Given the description of an element on the screen output the (x, y) to click on. 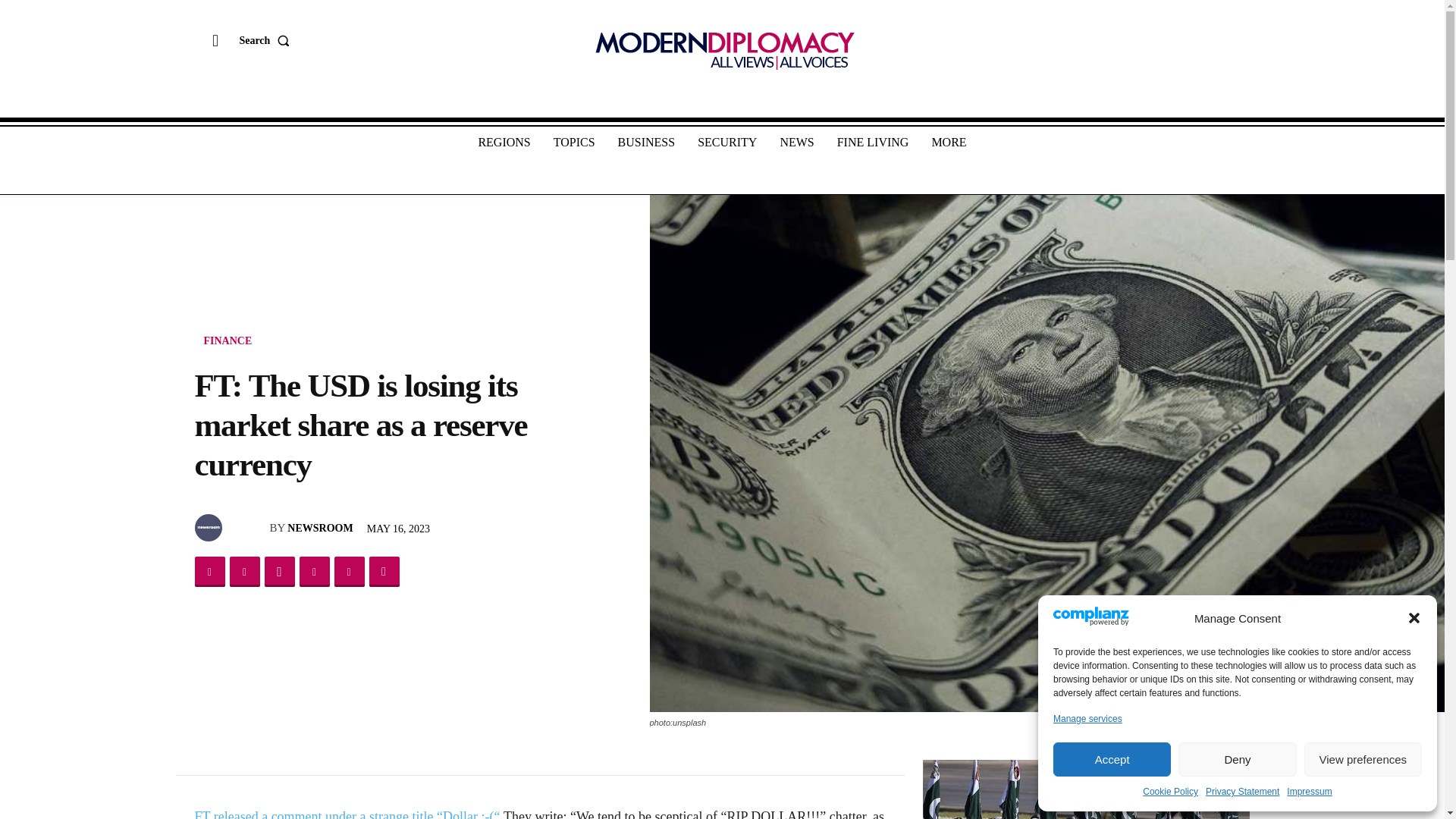
Manage services (1087, 719)
WhatsApp (278, 571)
Cookie Policy (1170, 791)
Facebook (208, 571)
Twitter (243, 571)
Newsroom (209, 527)
Linkedin (313, 571)
Accept (1111, 759)
View preferences (1363, 759)
Deny (1236, 759)
Impressum (1309, 791)
Privacy Statement (1242, 791)
